Given the description of an element on the screen output the (x, y) to click on. 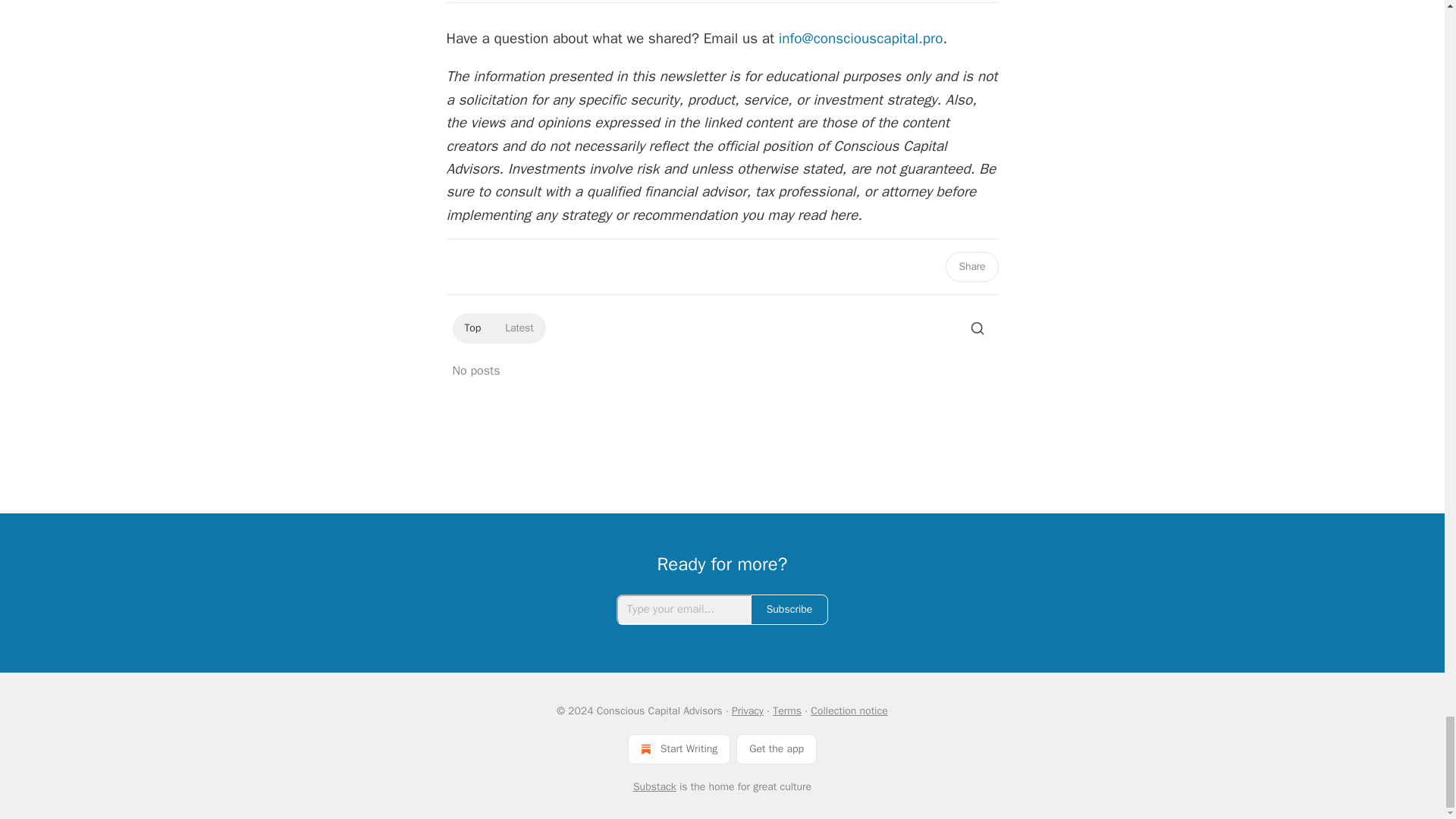
Latest (518, 328)
Top (471, 328)
Privacy (747, 710)
Share (970, 266)
Subscribe (789, 609)
